Given the description of an element on the screen output the (x, y) to click on. 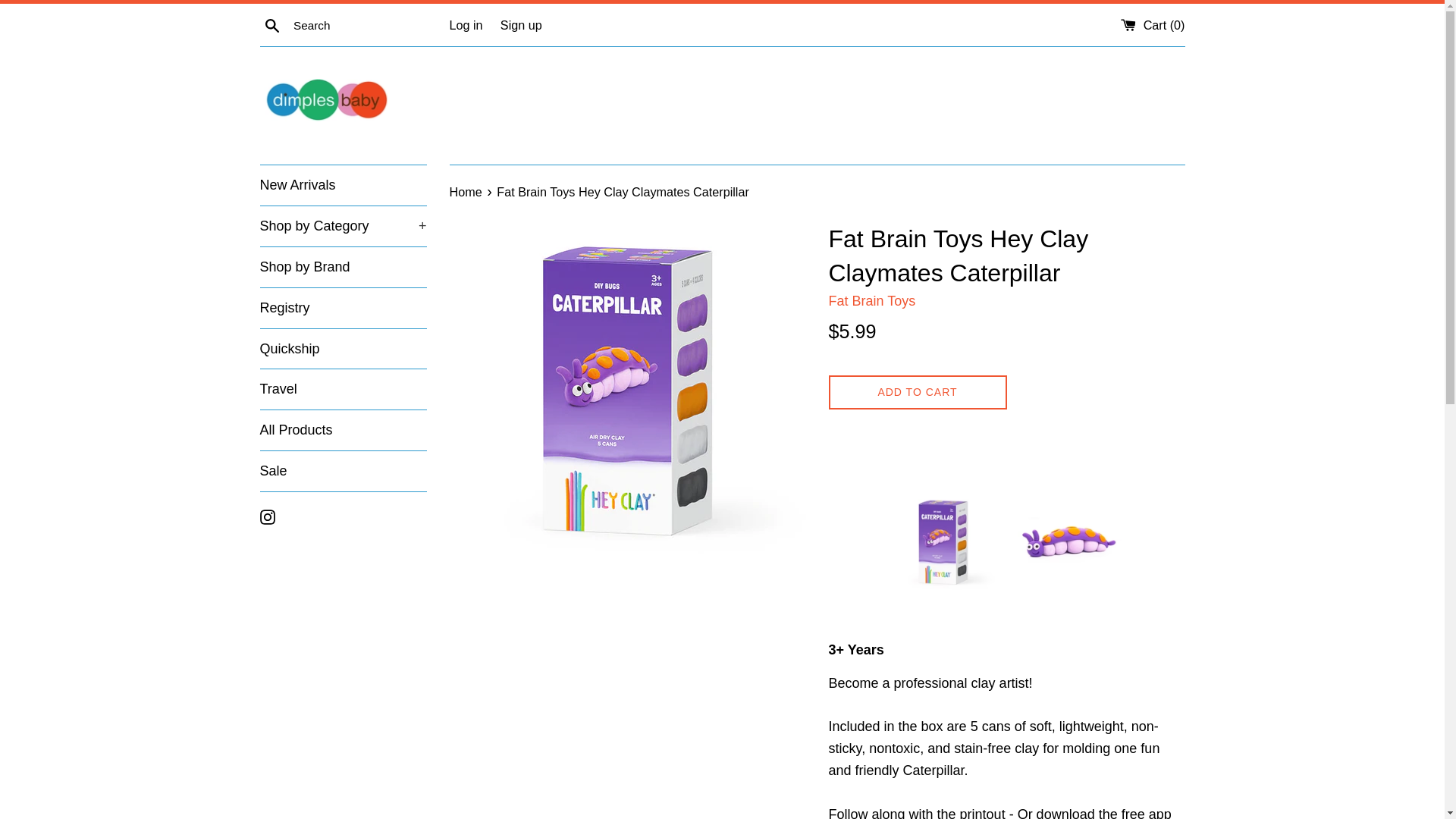
Fat Brain Toys (871, 300)
New Arrivals (342, 185)
Dimples Baby Brooklyn on Instagram (267, 516)
Sign up (520, 24)
Back to the frontpage (466, 192)
Search (271, 24)
Log in (464, 24)
